Given the description of an element on the screen output the (x, y) to click on. 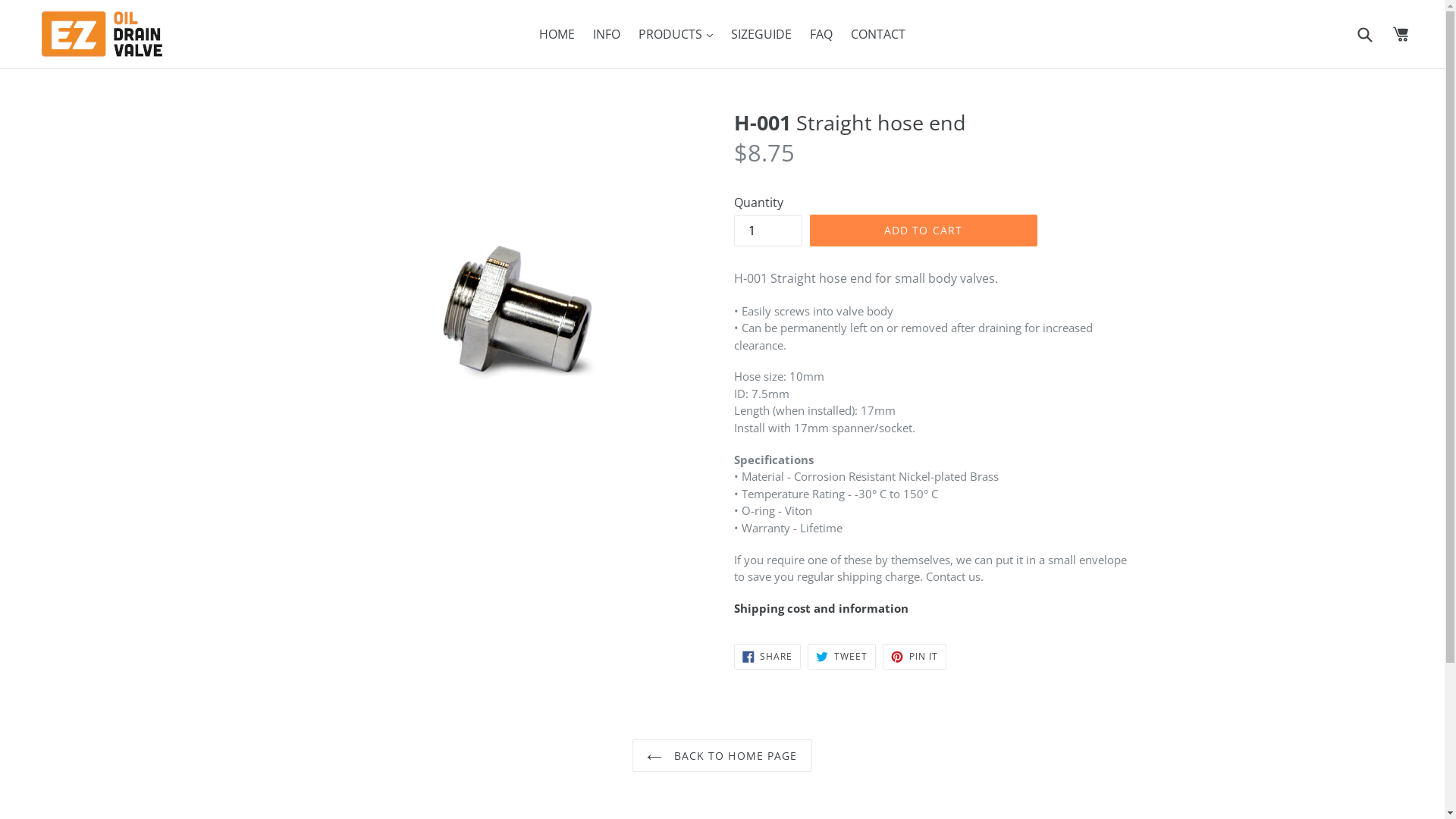
Shipping cost and information Element type: text (821, 607)
Cart
Cart Element type: text (1401, 33)
SIZEGUIDE Element type: text (761, 33)
BACK TO HOME PAGE Element type: text (721, 755)
FAQ Element type: text (821, 33)
SHARE
SHARE ON FACEBOOK Element type: text (767, 656)
HOME Element type: text (556, 33)
TWEET
TWEET ON TWITTER Element type: text (841, 656)
PIN IT
PIN ON PINTEREST Element type: text (914, 656)
INFO Element type: text (606, 33)
ADD TO CART Element type: text (923, 230)
CONTACT Element type: text (878, 33)
Submit Element type: text (1363, 33)
